Given the description of an element on the screen output the (x, y) to click on. 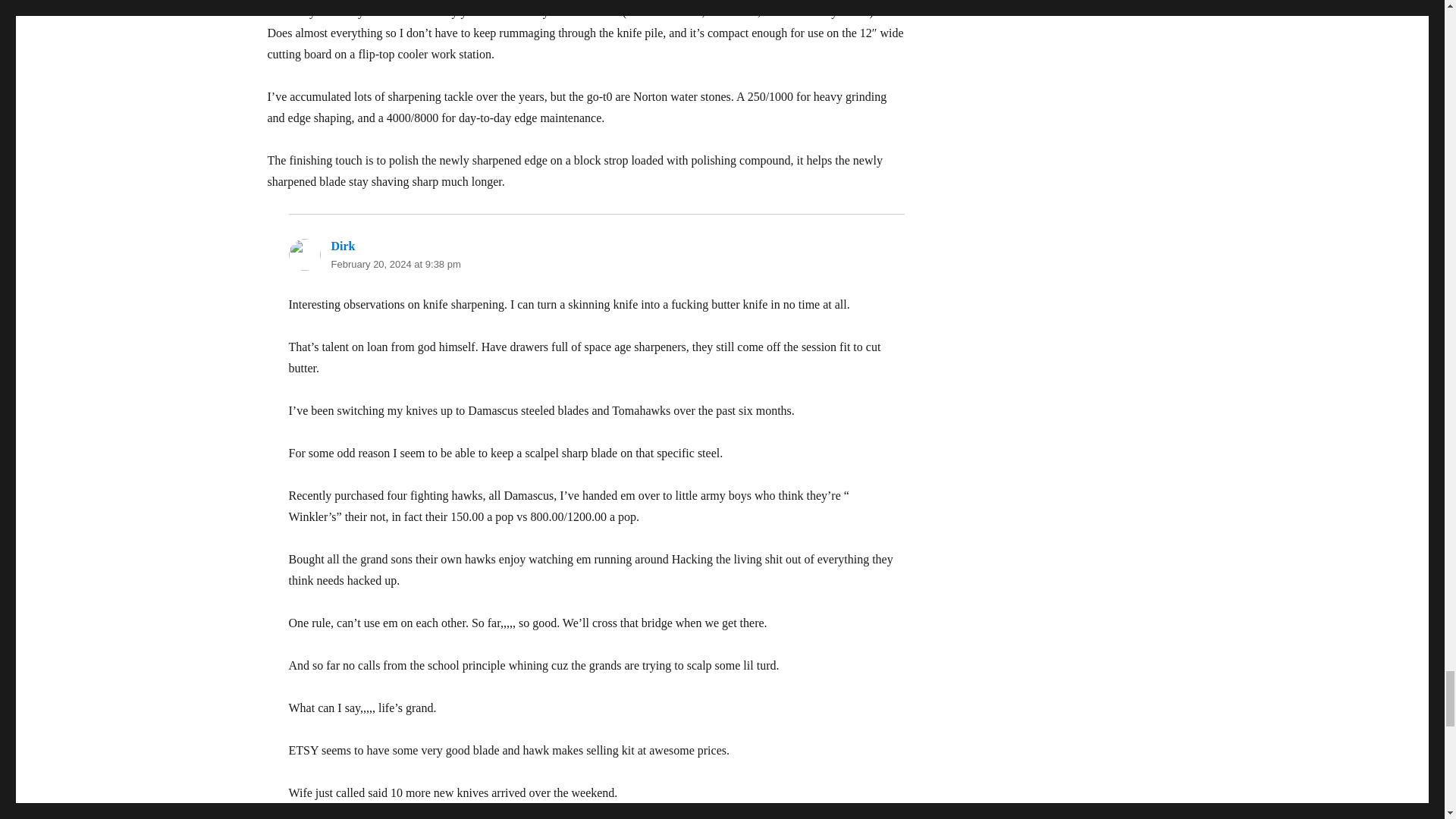
February 20, 2024 at 9:38 pm (395, 264)
Dirk (342, 245)
